Given the description of an element on the screen output the (x, y) to click on. 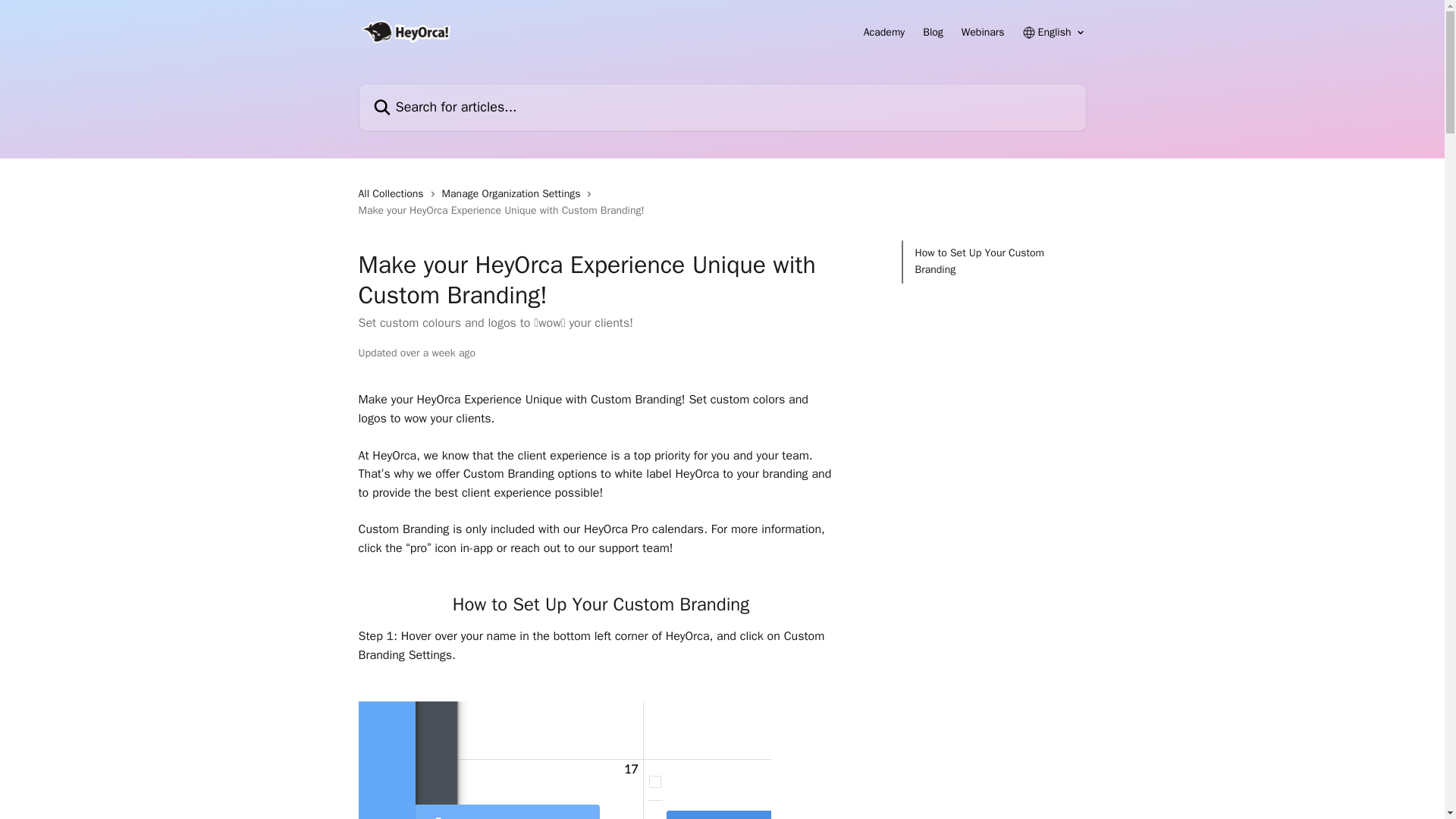
Academy (884, 32)
How to Set Up Your Custom Branding (994, 261)
Webinars (982, 32)
Manage Organization Settings (514, 193)
Blog (933, 32)
All Collections (393, 193)
